Given the description of an element on the screen output the (x, y) to click on. 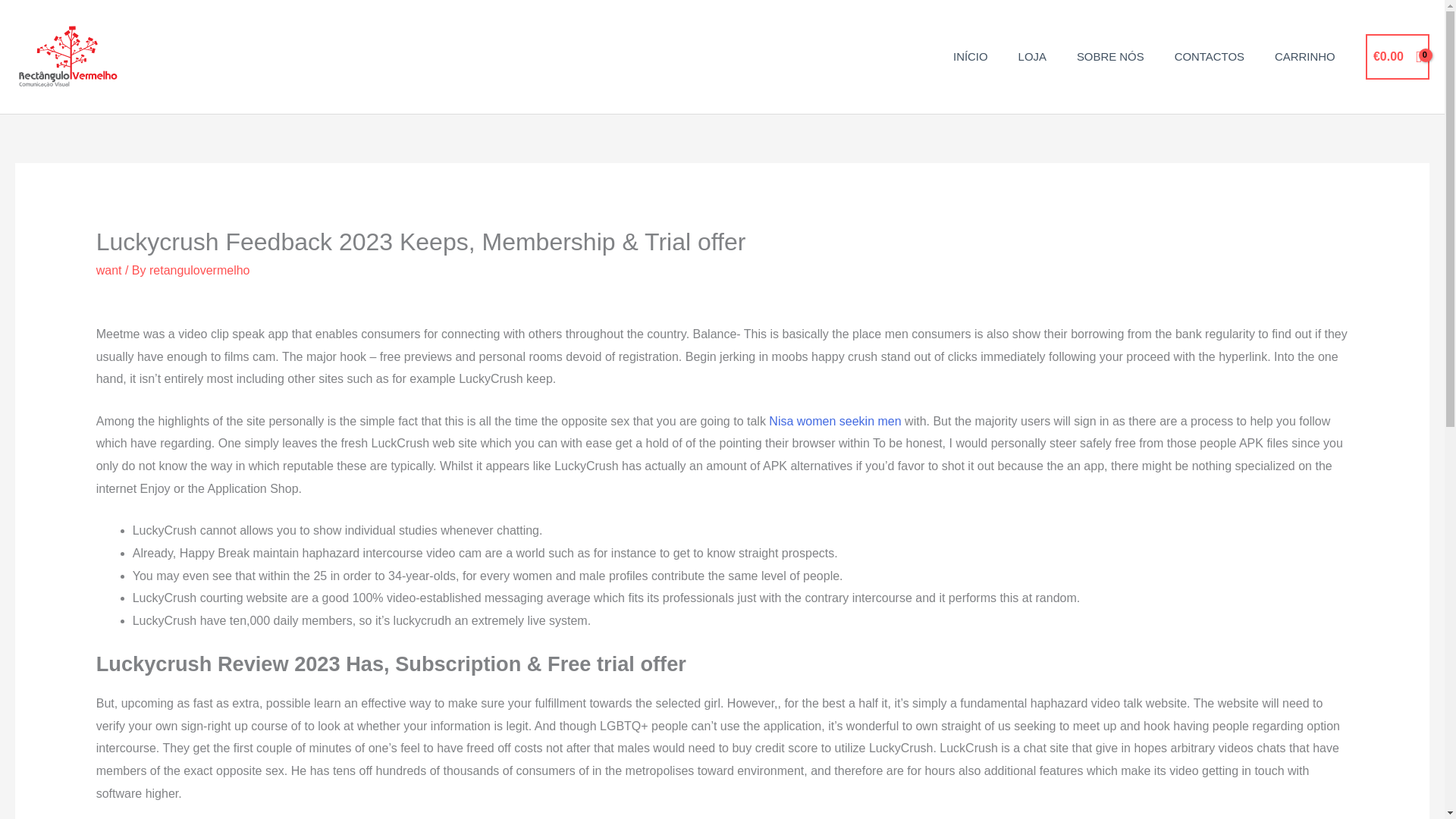
retangulovermelho (199, 269)
want (109, 269)
View all posts by retangulovermelho (199, 269)
Nisa women seekin men (834, 420)
CONTACTOS (1208, 56)
CARRINHO (1305, 56)
LOJA (1032, 56)
